Given the description of an element on the screen output the (x, y) to click on. 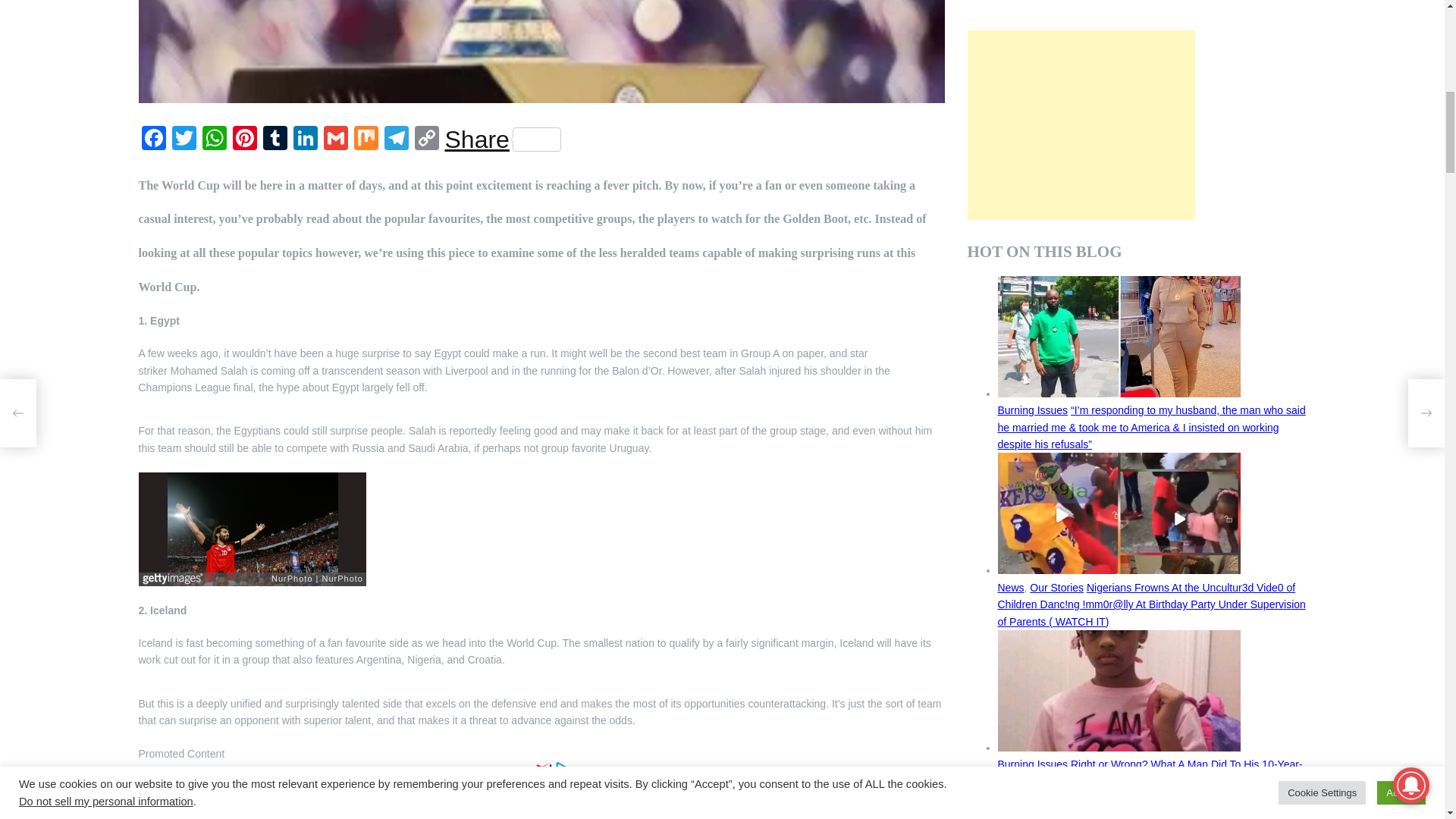
Tumblr (274, 139)
Copy Link (425, 139)
LinkedIn (304, 139)
Twitter (183, 139)
Gmail (335, 139)
Mix (365, 139)
Facebook (153, 139)
Pinterest (243, 139)
WhatsApp (213, 139)
Telegram (395, 139)
